Given the description of an element on the screen output the (x, y) to click on. 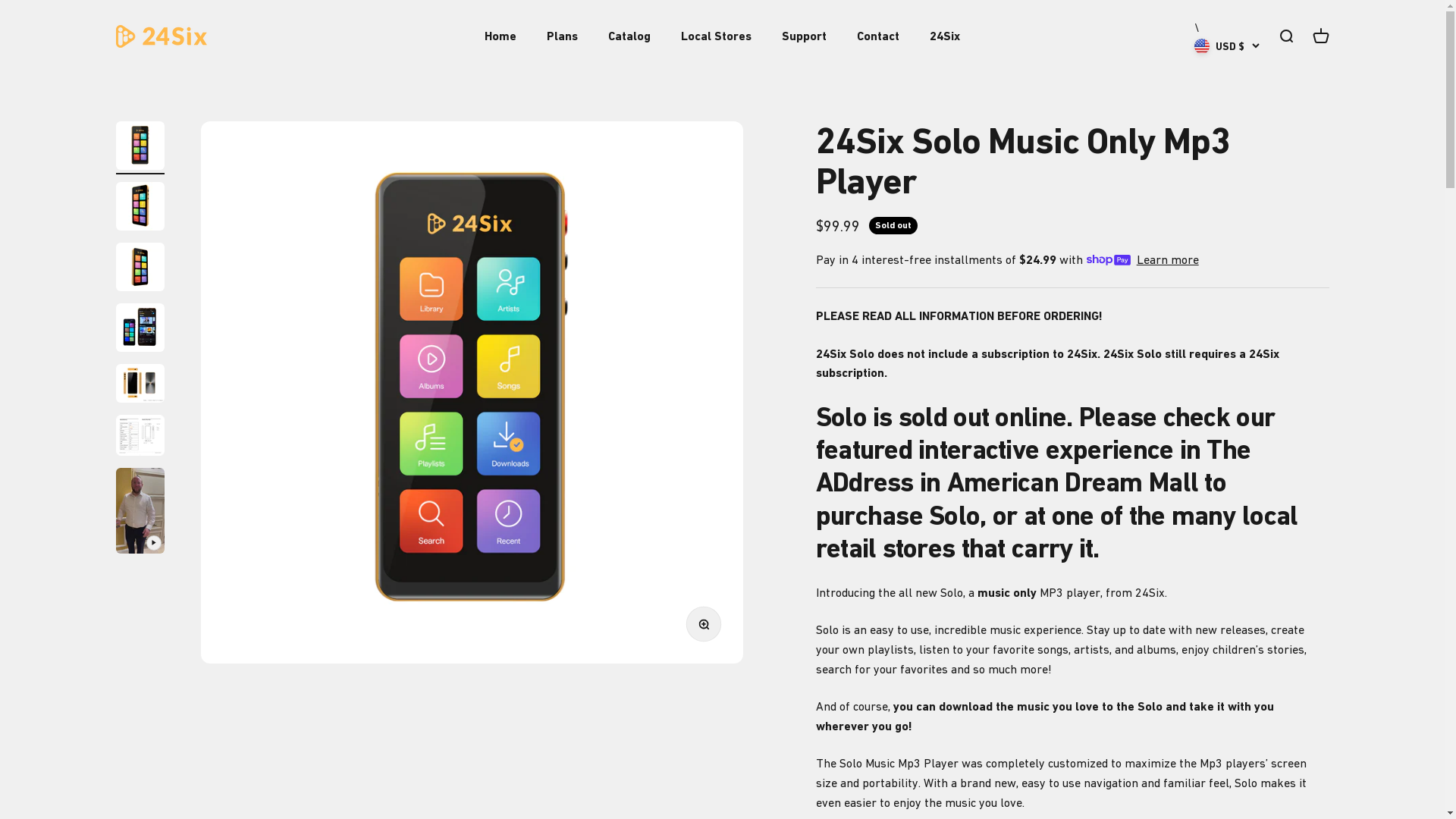
24sixplayer Element type: text (160, 36)
24Six Element type: text (944, 35)
USD $ Element type: text (1225, 45)
Support Element type: text (803, 35)
Catalog Element type: text (629, 35)
Zoom Element type: text (707, 628)
Open search Element type: text (1285, 36)
Local Stores Element type: text (715, 35)
Open cart
0 Element type: text (1319, 36)
Plans Element type: text (561, 35)
Contact Element type: text (877, 35)
Home Element type: text (500, 35)
